Given the description of an element on the screen output the (x, y) to click on. 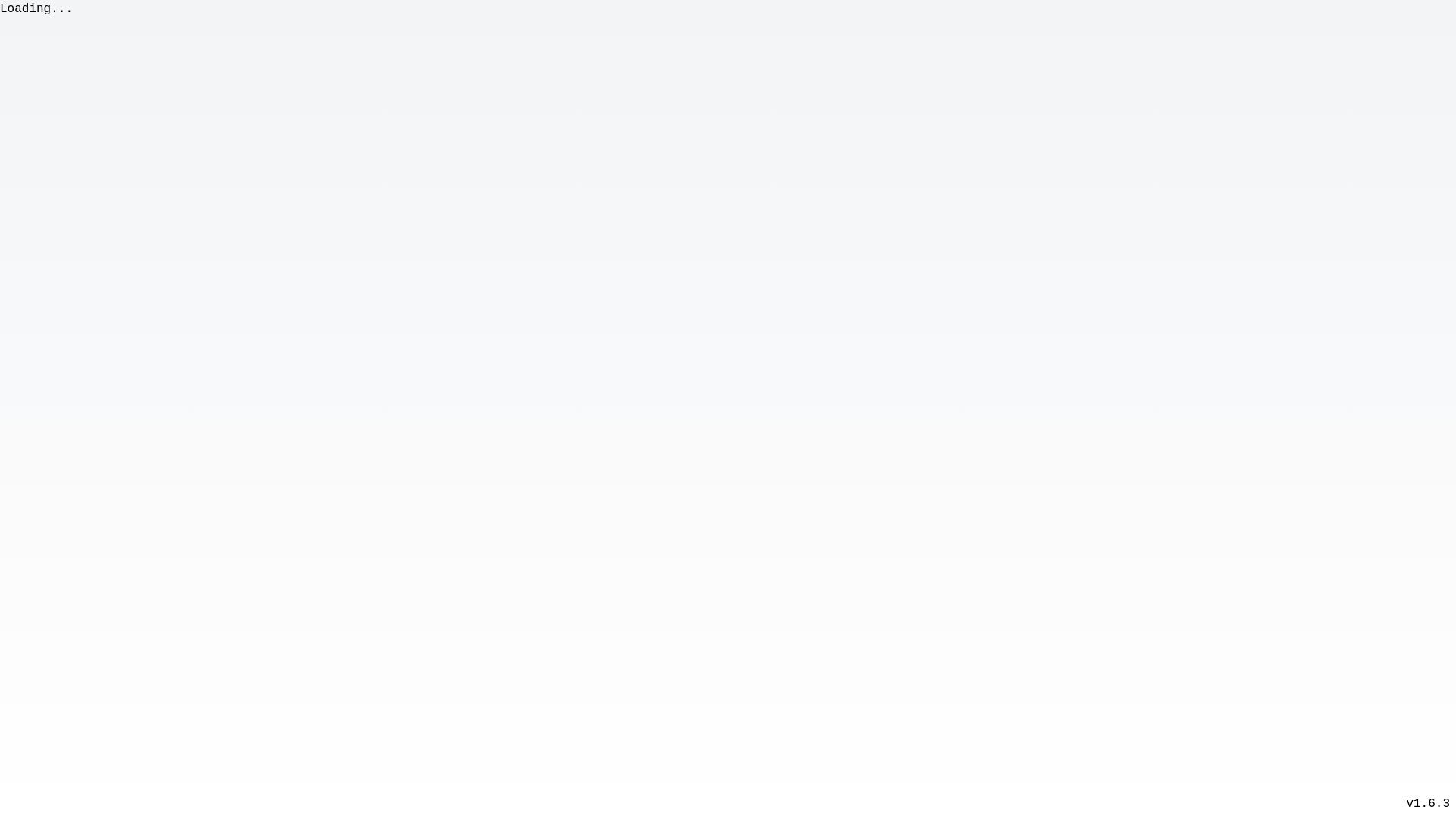
v1.6.3
SoftwareLabs Element type: text (1427, 803)
